Given the description of an element on the screen output the (x, y) to click on. 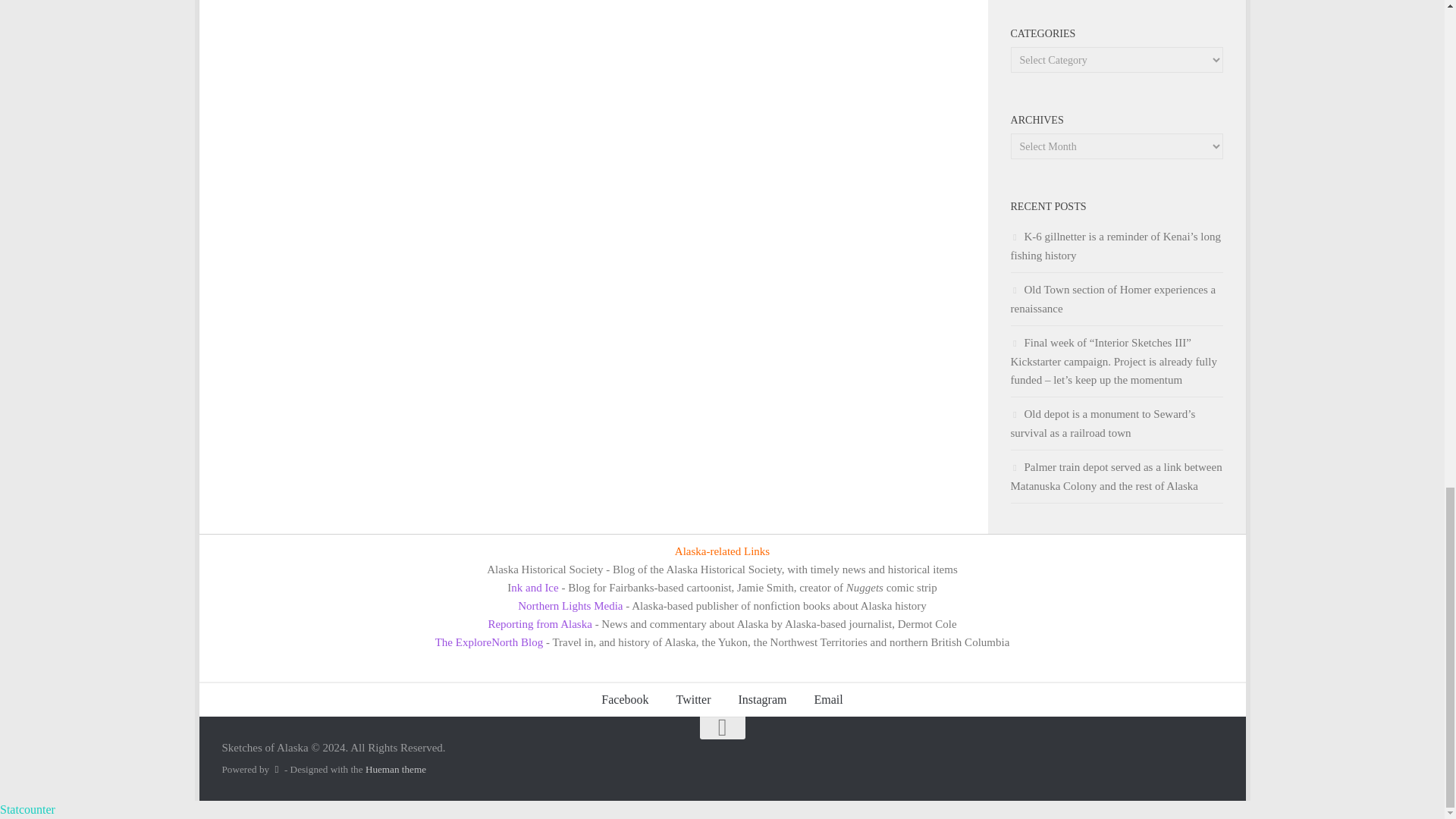
Hueman theme (395, 768)
Powered by WordPress (275, 768)
Old Town section of Homer experiences a renaissance (1112, 298)
